Given the description of an element on the screen output the (x, y) to click on. 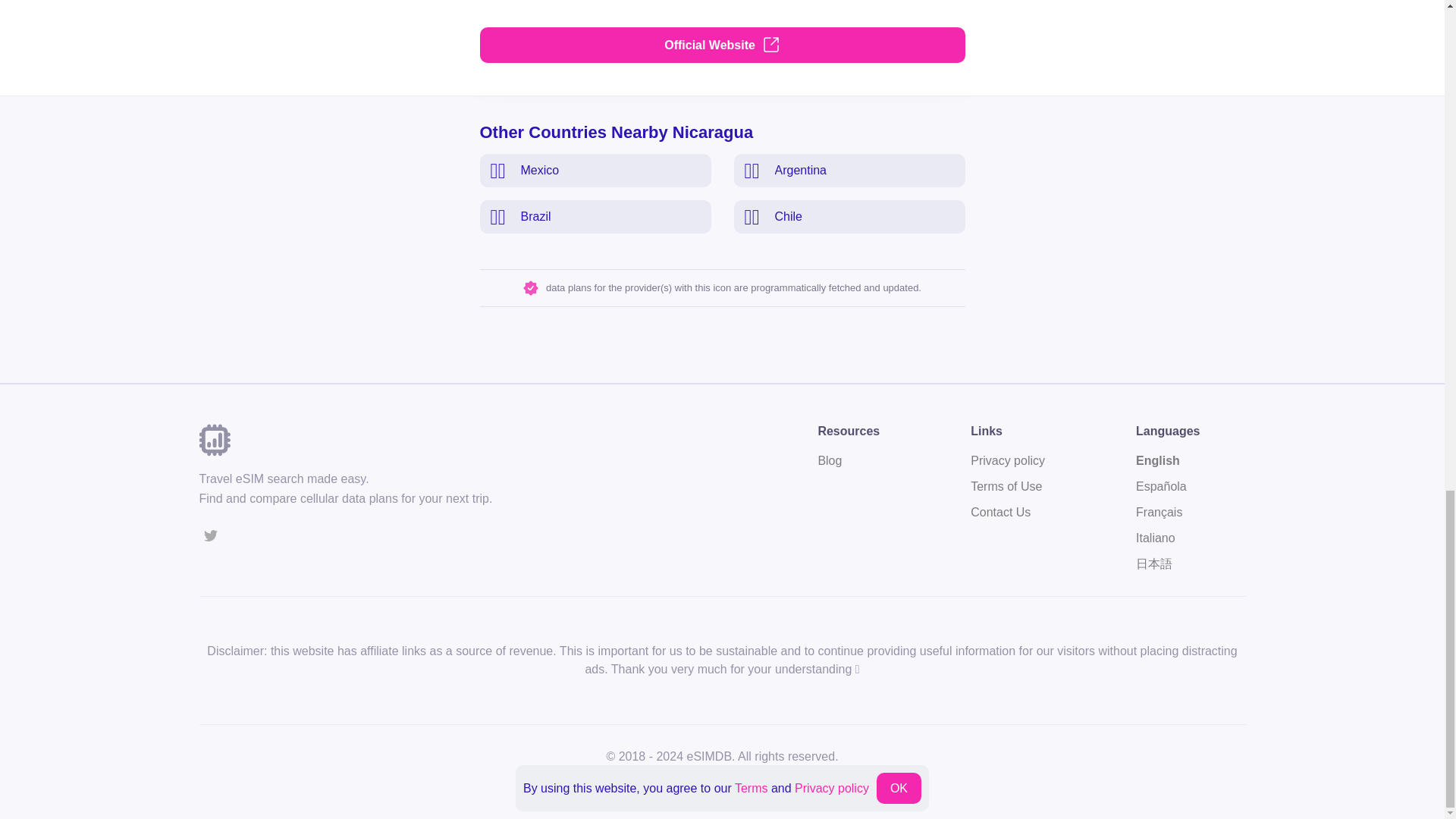
Terms of Use (721, 20)
Blog (1008, 486)
Privacy policy (847, 461)
English (1008, 461)
Contact Us (1167, 461)
Italiano (1008, 512)
